Given the description of an element on the screen output the (x, y) to click on. 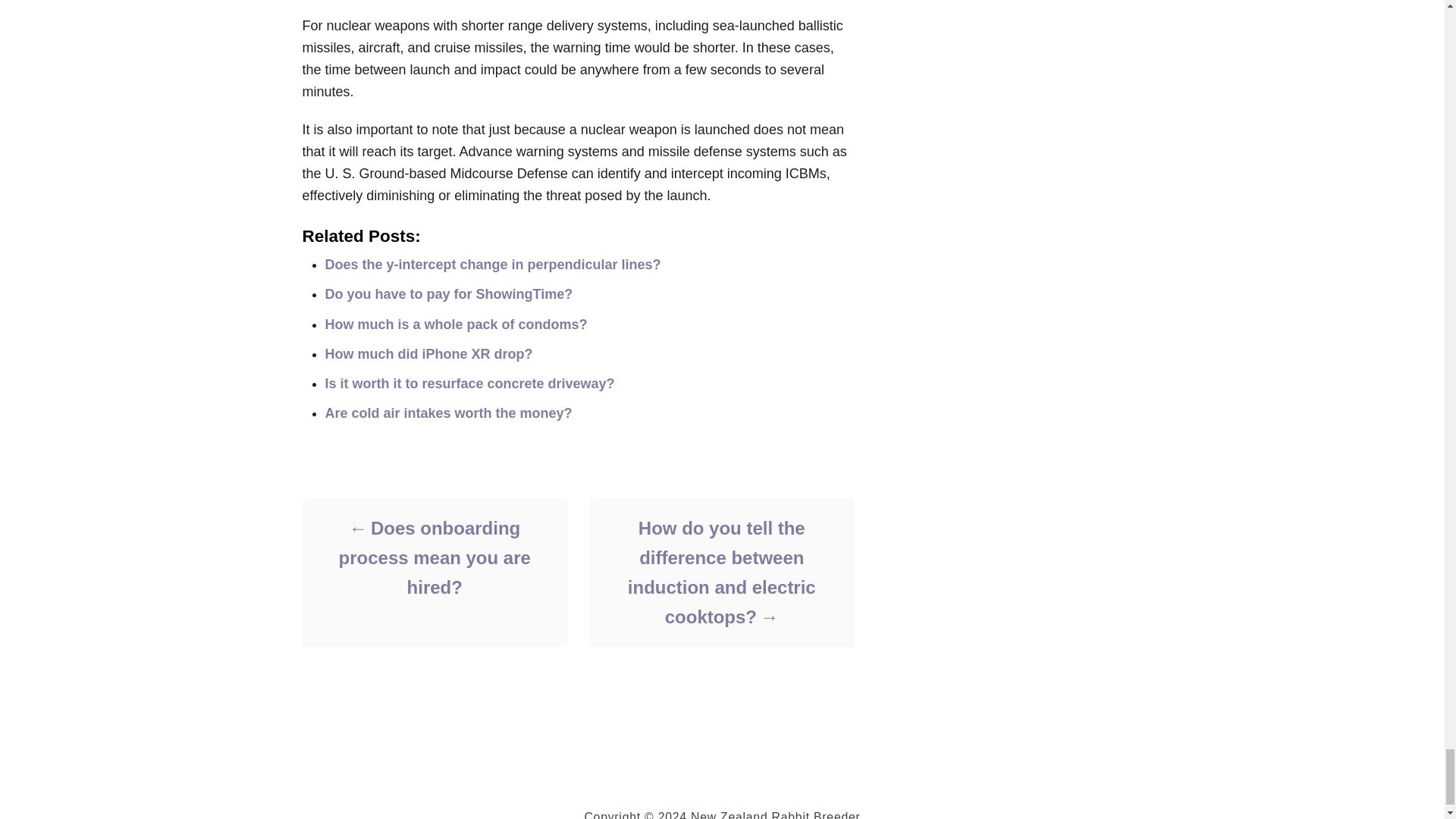
Is it worth it to resurface concrete driveway? (469, 383)
Do you have to pay for ShowingTime? (448, 294)
How much did iPhone XR drop? (428, 353)
Does the y-intercept change in perpendicular lines? (492, 264)
Does onboarding process mean you are hired? (434, 557)
How much is a whole pack of condoms? (455, 324)
Are cold air intakes worth the money? (448, 412)
